Given the description of an element on the screen output the (x, y) to click on. 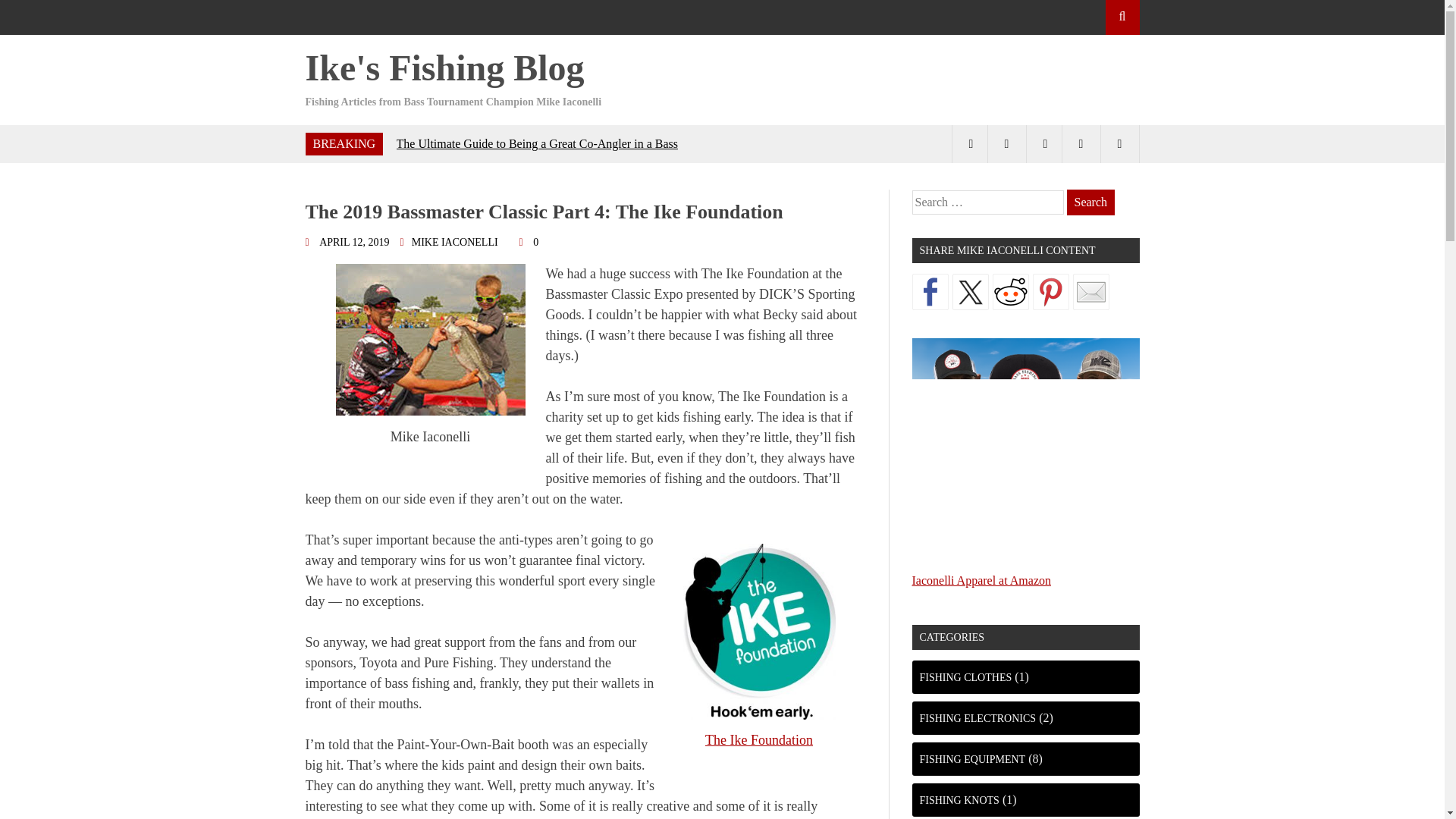
Share by email (1089, 291)
Ike's Fishing Blog (443, 67)
Search (1090, 202)
The Ike Foundation (758, 739)
MIKE IACONELLI (456, 242)
APRIL 12, 2019 (349, 242)
Share on Reddit (1009, 291)
Share on Twitter (970, 291)
Share on Facebook (929, 291)
